Given the description of an element on the screen output the (x, y) to click on. 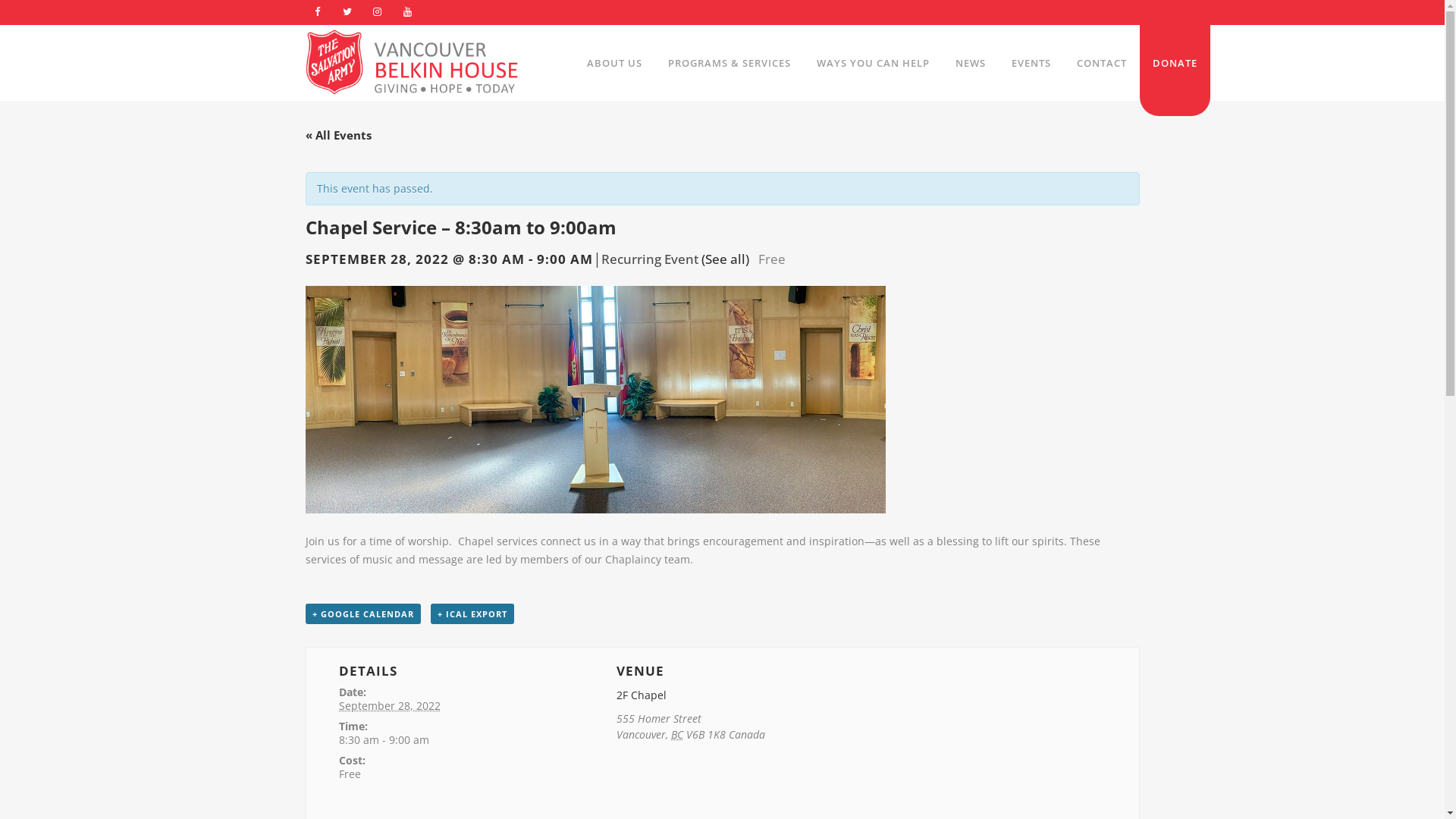
Instagram Element type: hover (377, 12)
2F Chapel Element type: text (641, 694)
CONTACT Element type: text (1101, 62)
WAYS YOU CAN HELP Element type: text (872, 62)
NEWS Element type: text (969, 62)
Twitter Element type: hover (347, 12)
ABOUT US Element type: text (613, 62)
Facebook Element type: hover (316, 12)
DONATE Element type: text (1174, 70)
(See all) Element type: text (724, 258)
+ ICAL EXPORT Element type: text (472, 613)
PROGRAMS & SERVICES Element type: text (729, 62)
+ GOOGLE CALENDAR Element type: text (362, 613)
YouTube Element type: hover (407, 12)
EVENTS Element type: text (1030, 62)
